Given the description of an element on the screen output the (x, y) to click on. 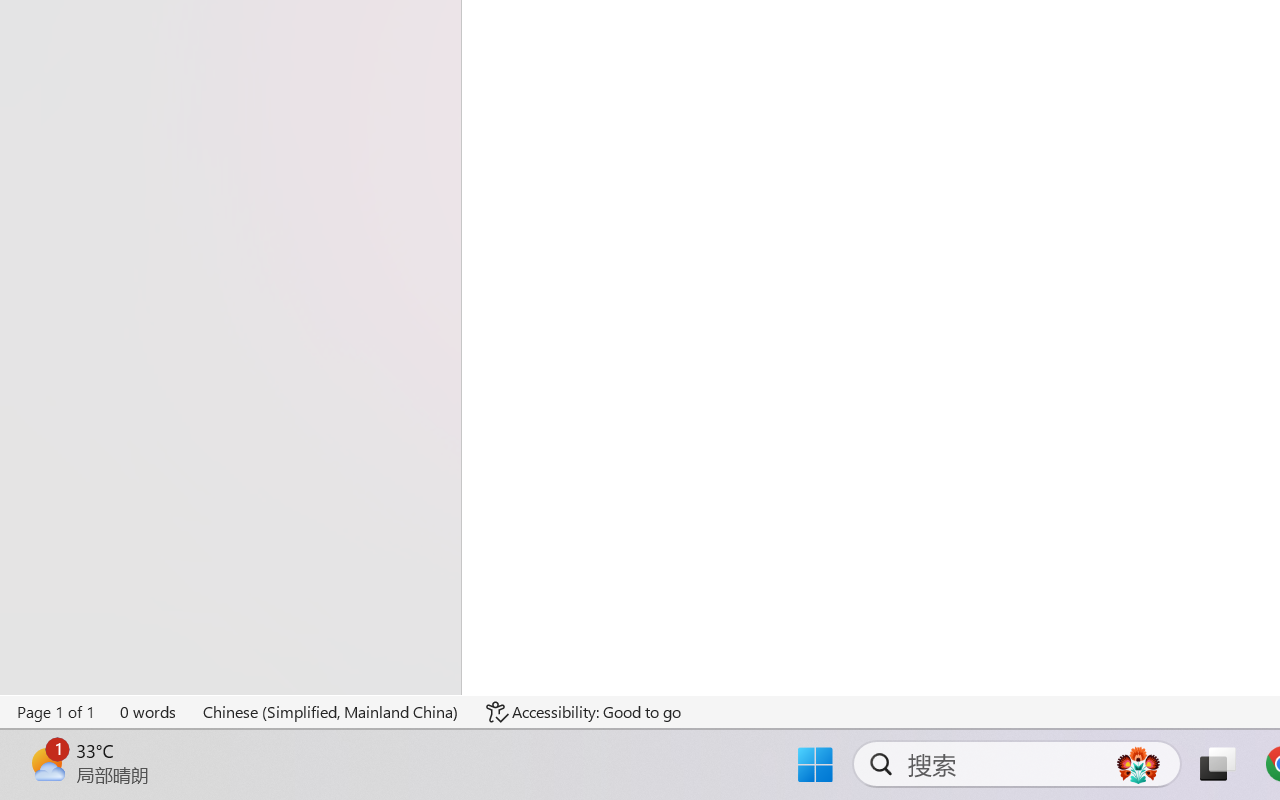
Language Chinese (Simplified, Mainland China) (331, 712)
